Given the description of an element on the screen output the (x, y) to click on. 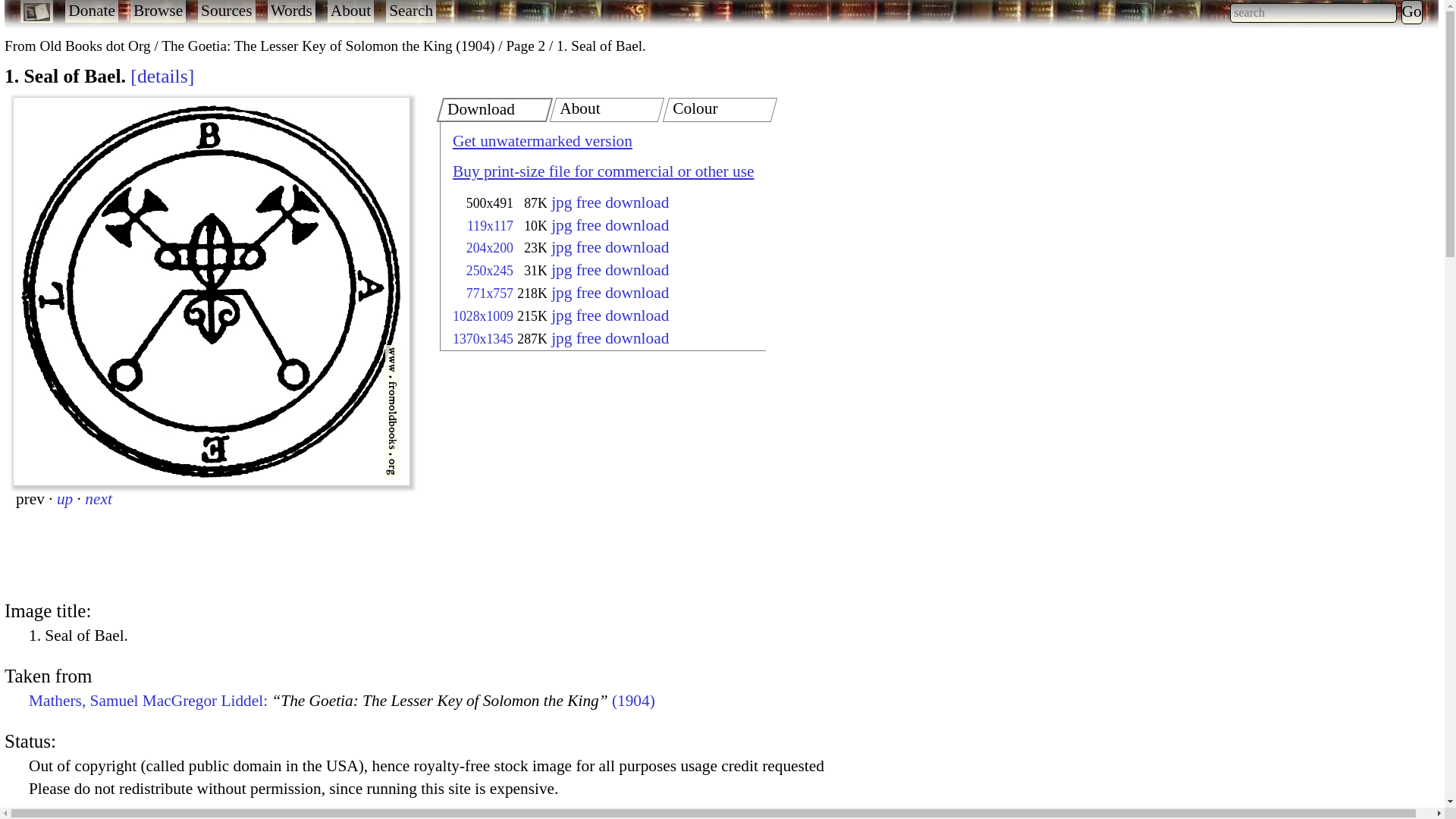
1370x1345 (482, 338)
Advertisement (562, 477)
next: 2. Seal of Agares. (98, 498)
About (350, 11)
jpg free download (609, 247)
Words (291, 11)
jpg free download (609, 338)
Page 2 (524, 45)
771x757 (489, 293)
1028x1009 (482, 315)
From Old Books dot Org (77, 45)
jpg free download (609, 270)
Get unwatermarked version (541, 140)
Sources (227, 11)
119x117 (490, 225)
